Given the description of an element on the screen output the (x, y) to click on. 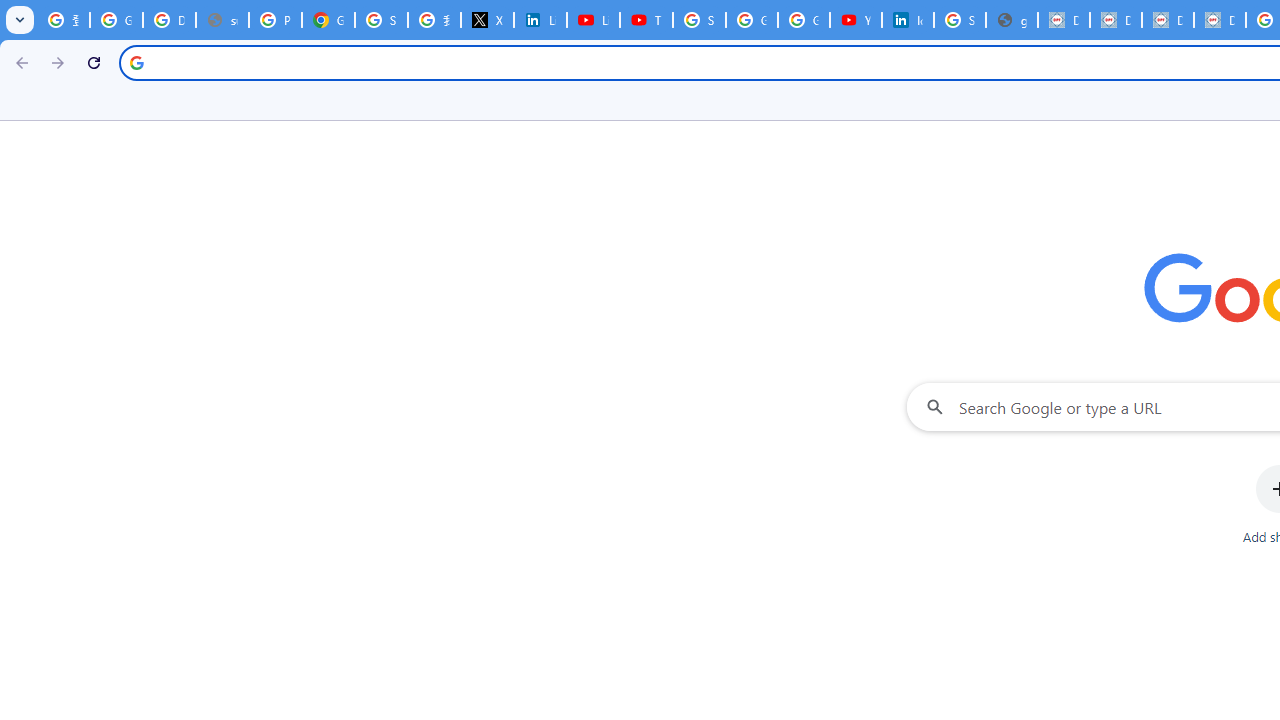
Privacy Help Center - Policies Help (275, 20)
Data Privacy Framework (1064, 20)
Data Privacy Framework (1115, 20)
support.google.com - Network error (222, 20)
LinkedIn Privacy Policy (540, 20)
Sign in - Google Accounts (381, 20)
